Given the description of an element on the screen output the (x, y) to click on. 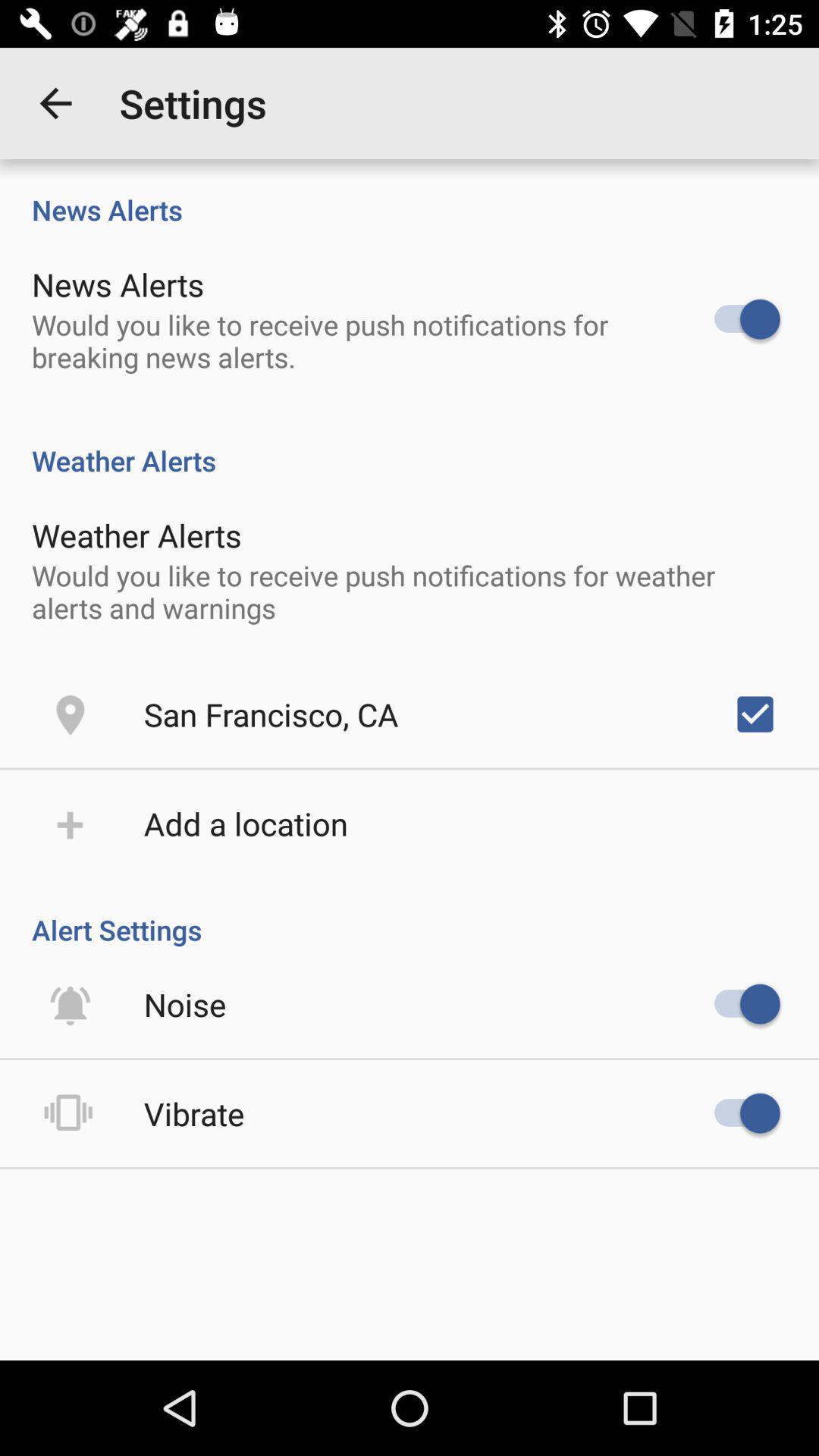
open item on the right (755, 714)
